Given the description of an element on the screen output the (x, y) to click on. 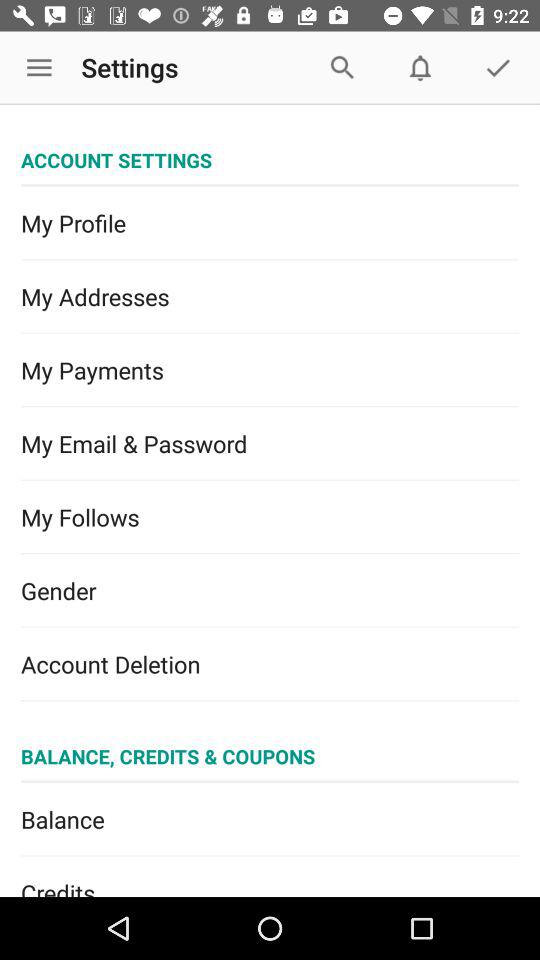
choose icon above the account settings (39, 67)
